Given the description of an element on the screen output the (x, y) to click on. 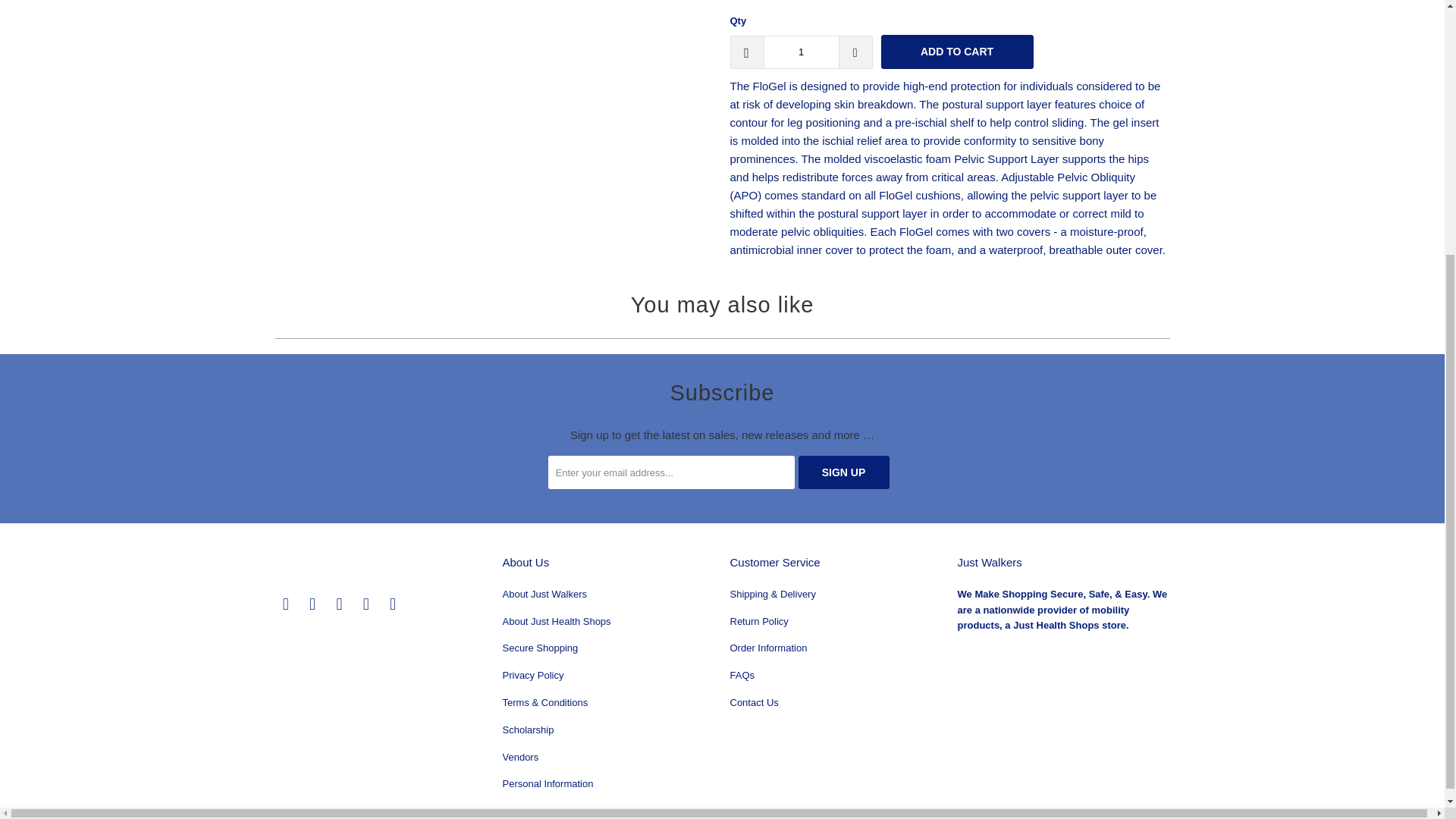
Just Walkers on Instagram (366, 604)
1 (800, 52)
Just Walkers on Twitter (286, 604)
Just Walkers on YouTube (339, 604)
Just Walkers on Facebook (312, 604)
Email Just Walkers (392, 604)
Sign Up (842, 471)
